Given the description of an element on the screen output the (x, y) to click on. 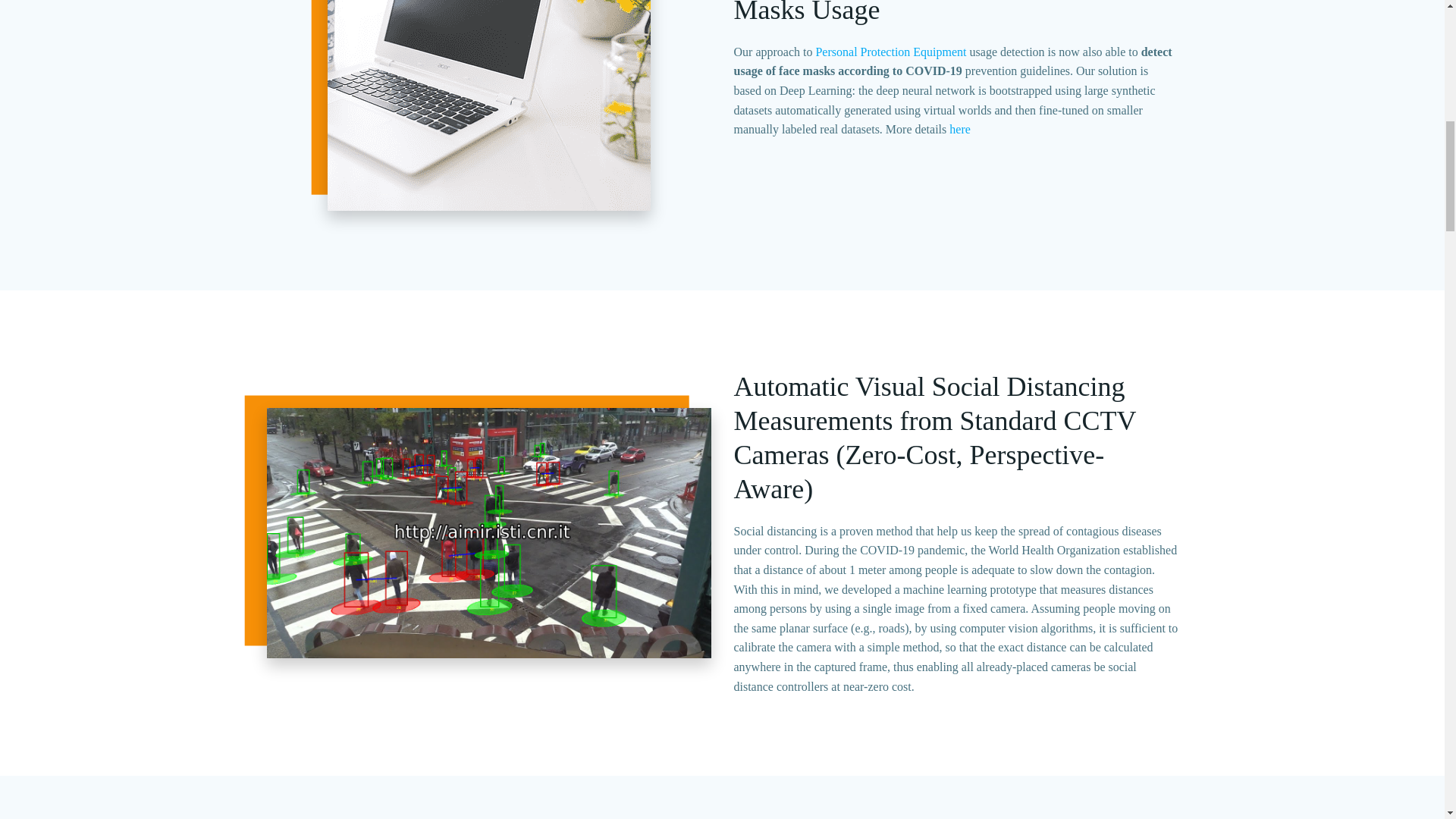
here (960, 128)
Personal Protection Equipment (890, 51)
